Given the description of an element on the screen output the (x, y) to click on. 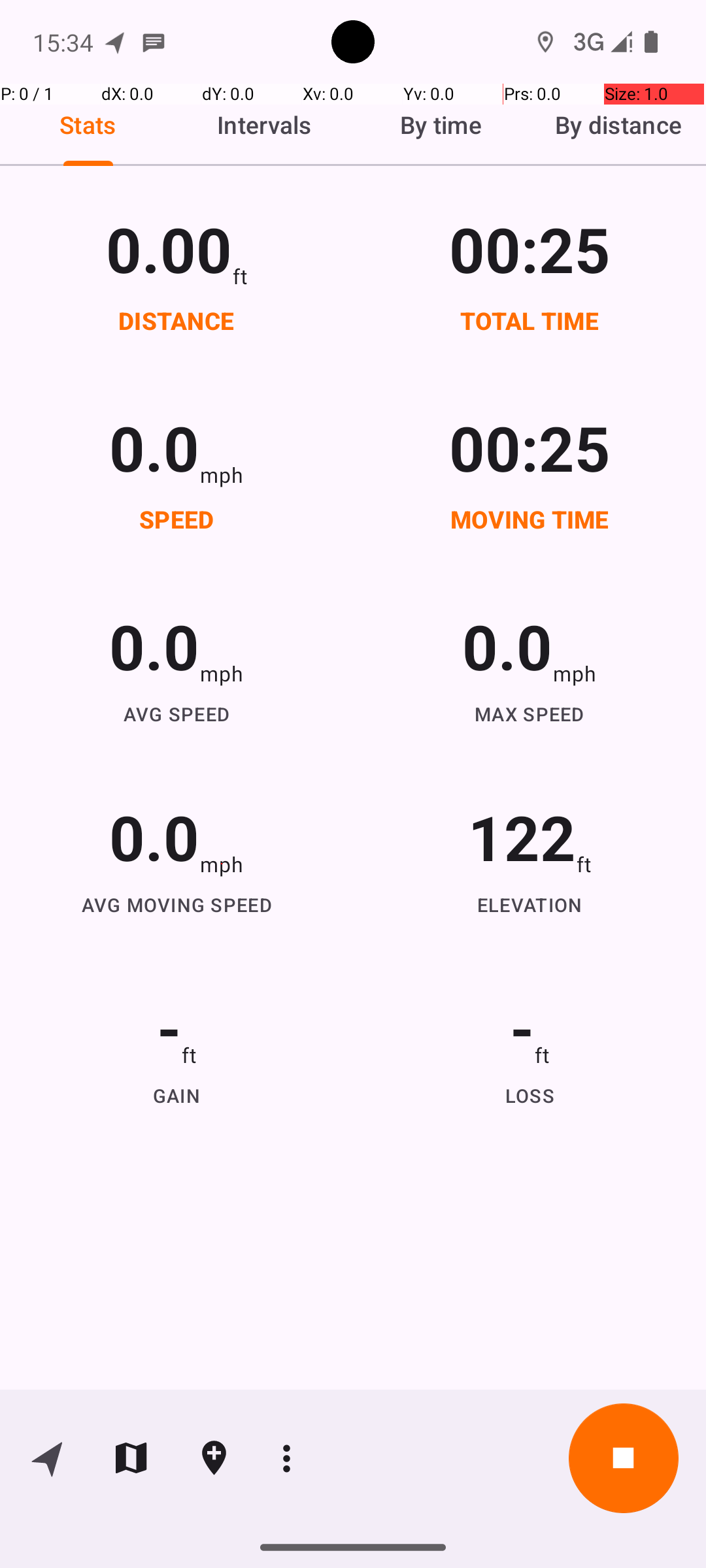
Insert marker Element type: android.widget.Button (213, 1458)
Stop Element type: android.widget.ImageButton (623, 1458)
0.00 Element type: android.widget.TextView (168, 248)
00:25 Element type: android.widget.TextView (529, 248)
0.0 Element type: android.widget.TextView (154, 446)
SPEED Element type: android.widget.TextView (176, 518)
122 Element type: android.widget.TextView (521, 836)
- Element type: android.widget.TextView (168, 1026)
